Given the description of an element on the screen output the (x, y) to click on. 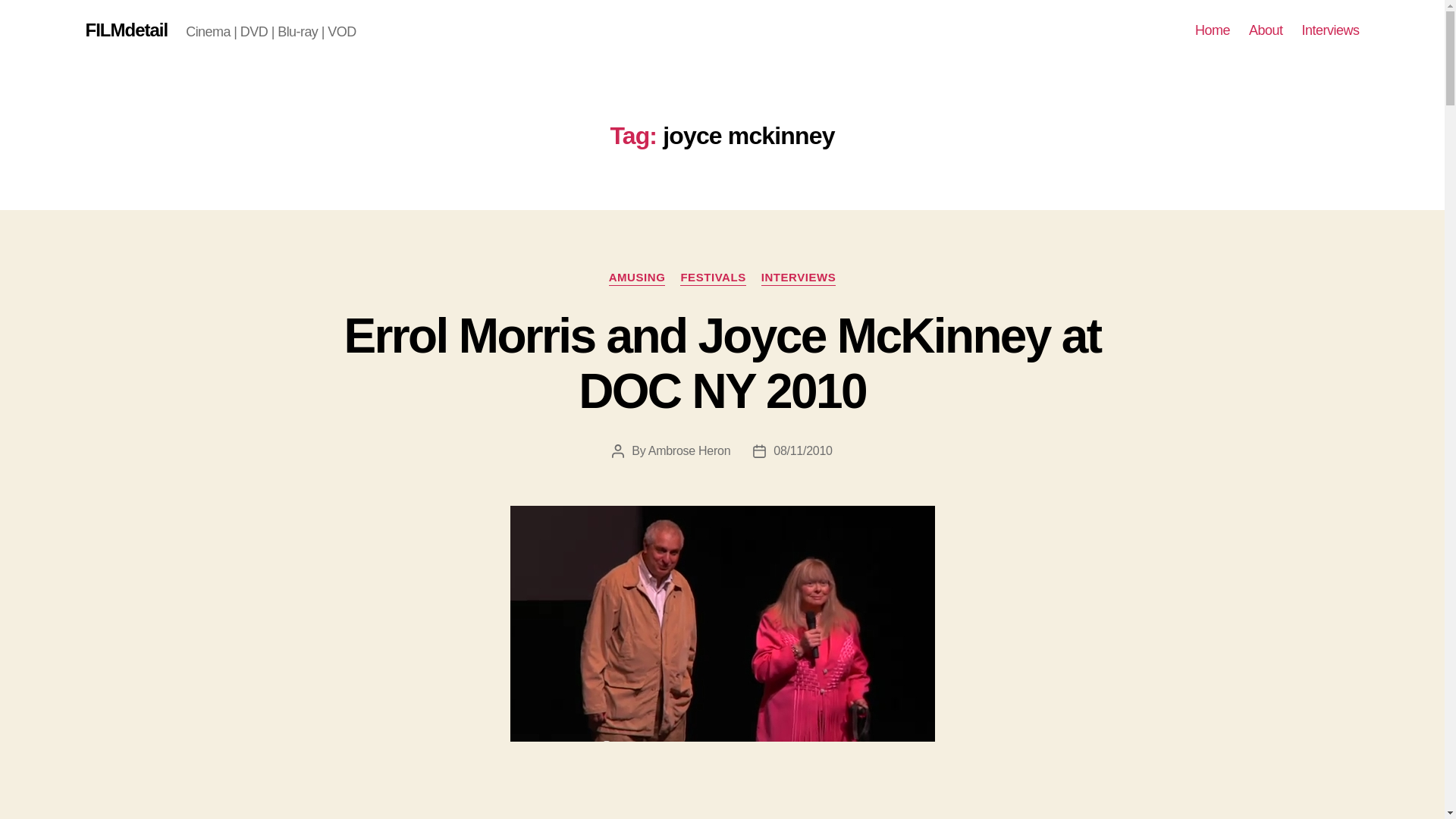
INTERVIEWS (798, 278)
AMUSING (636, 278)
Home (1212, 30)
Interviews (1329, 30)
FILMdetail (125, 30)
Ambrose Heron (688, 450)
FESTIVALS (712, 278)
About (1265, 30)
Errol Morris and Joyce McKinney at DOC NY 2010 (721, 363)
